Given the description of an element on the screen output the (x, y) to click on. 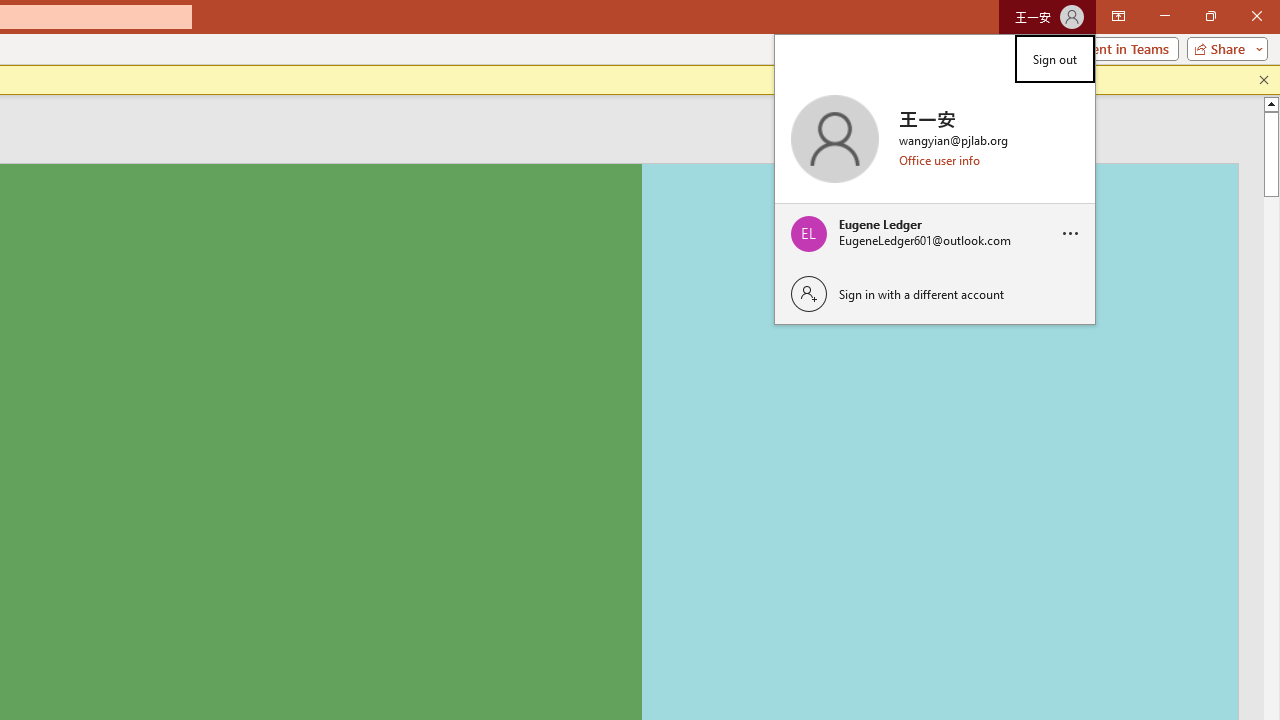
Close this message (1263, 80)
